Given the description of an element on the screen output the (x, y) to click on. 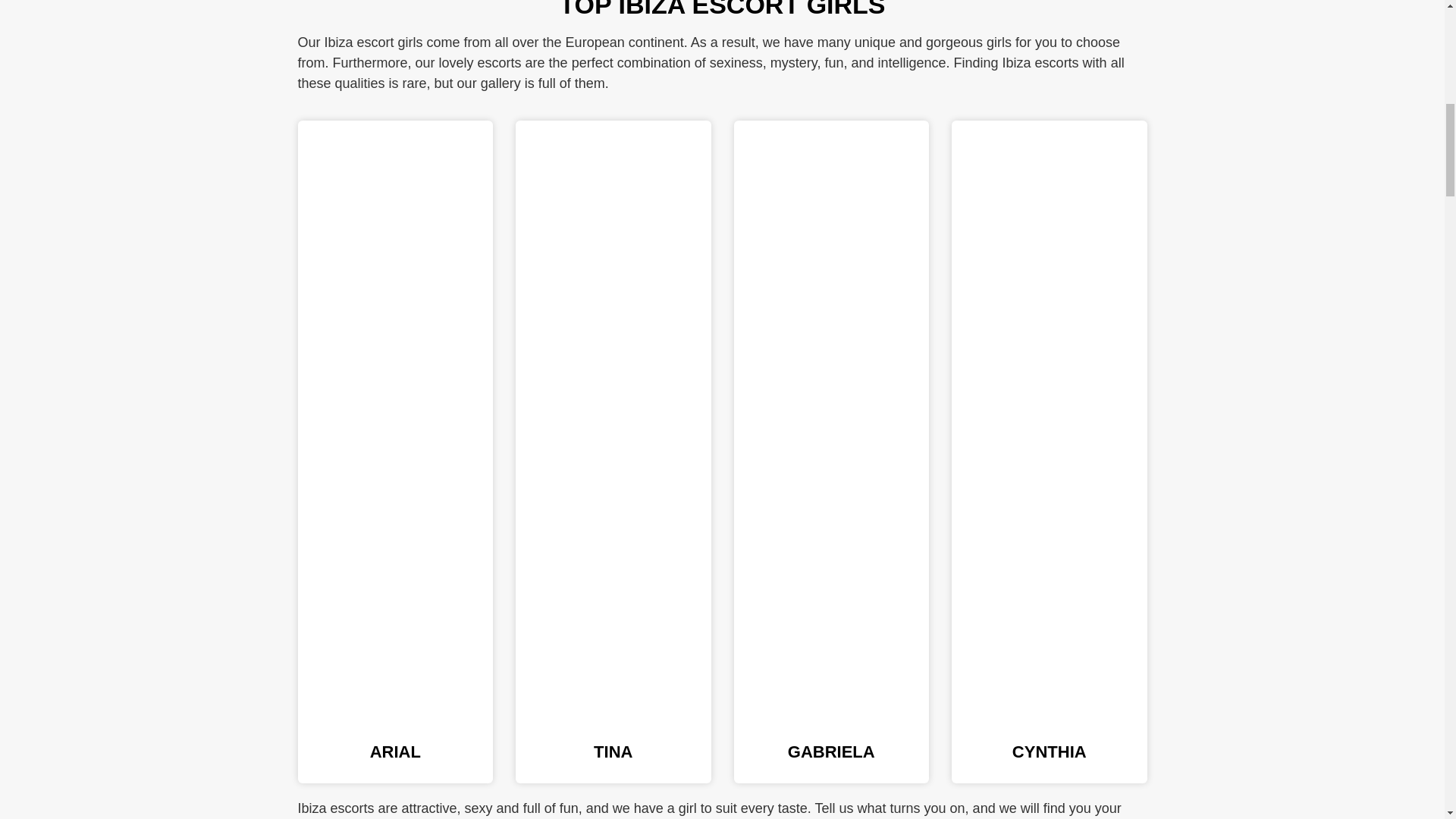
GABRIELA (831, 751)
CYNTHIA (1048, 751)
ARIAL (394, 751)
TINA (612, 751)
